Given the description of an element on the screen output the (x, y) to click on. 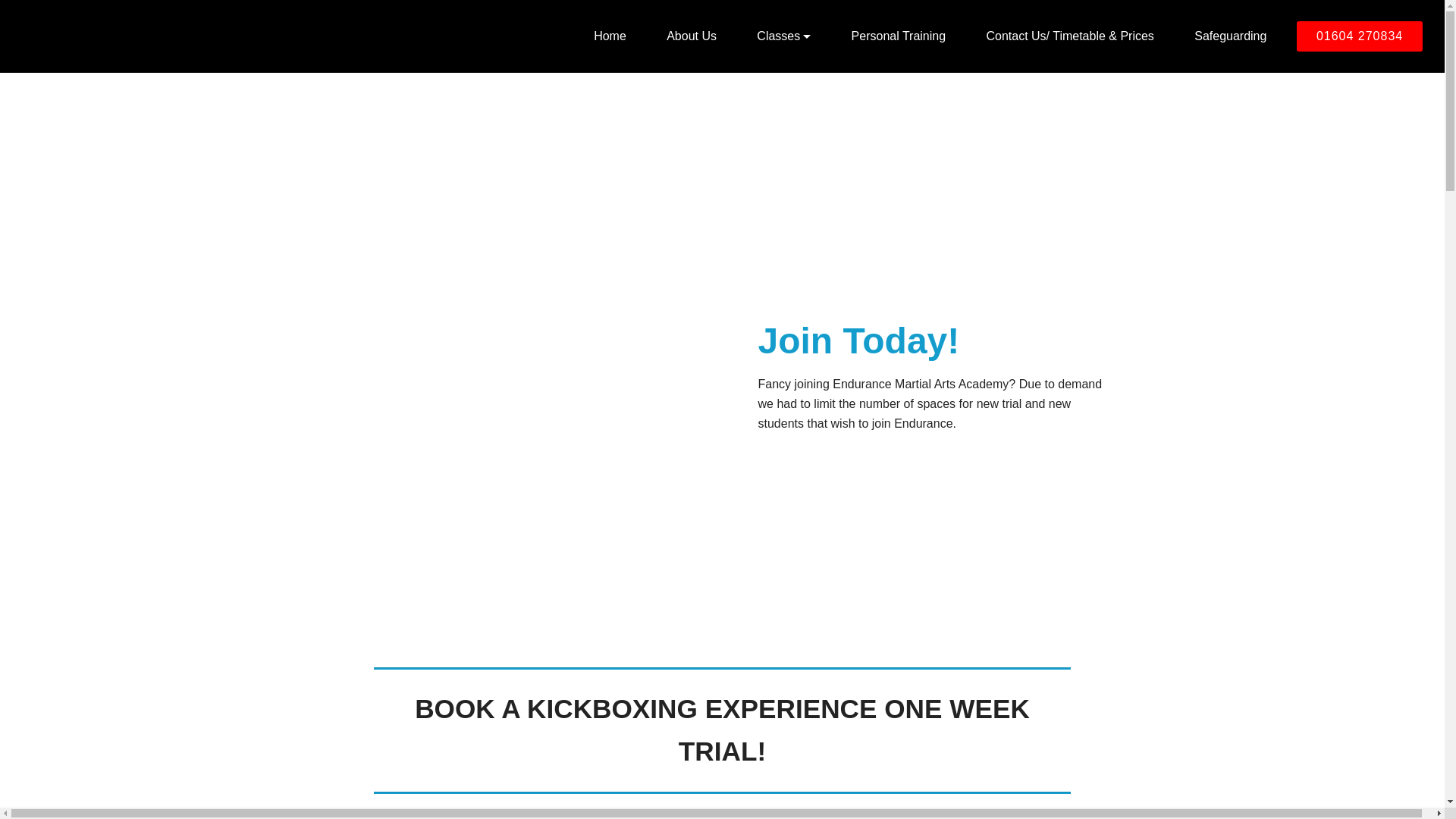
01604 270834 (1359, 35)
Classes (783, 35)
Home (609, 35)
Personal Training (898, 35)
About Us (691, 35)
Safeguarding (1230, 35)
